Given the description of an element on the screen output the (x, y) to click on. 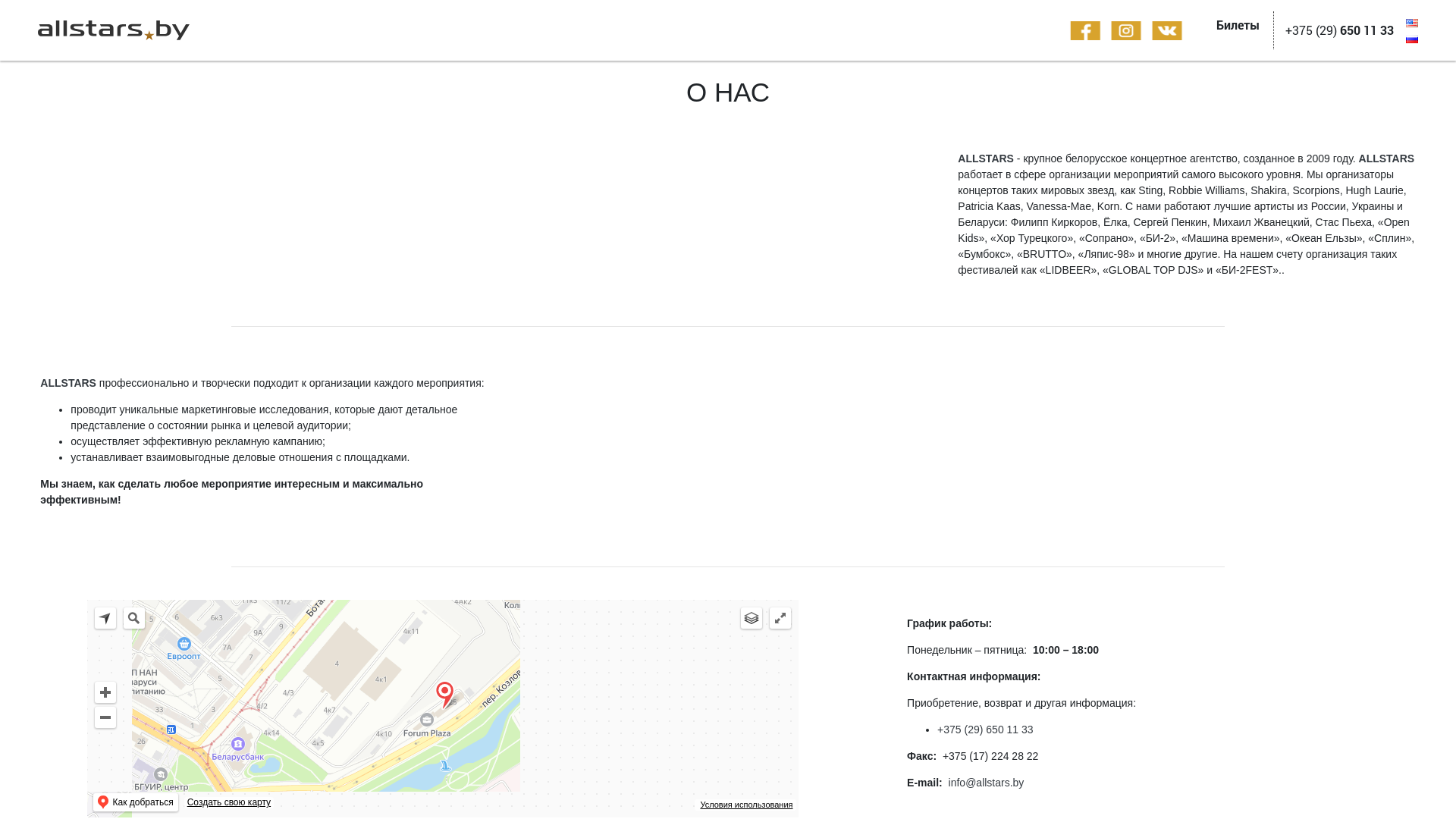
info@allstars.by Element type: text (986, 782)
ALLSTARS Element type: text (985, 158)
+375 (29) 650 11 33 Element type: text (985, 729)
ALLSTARS Element type: text (1386, 158)
ALLSTARS Element type: text (68, 382)
English version Element type: hover (1411, 22)
